Given the description of an element on the screen output the (x, y) to click on. 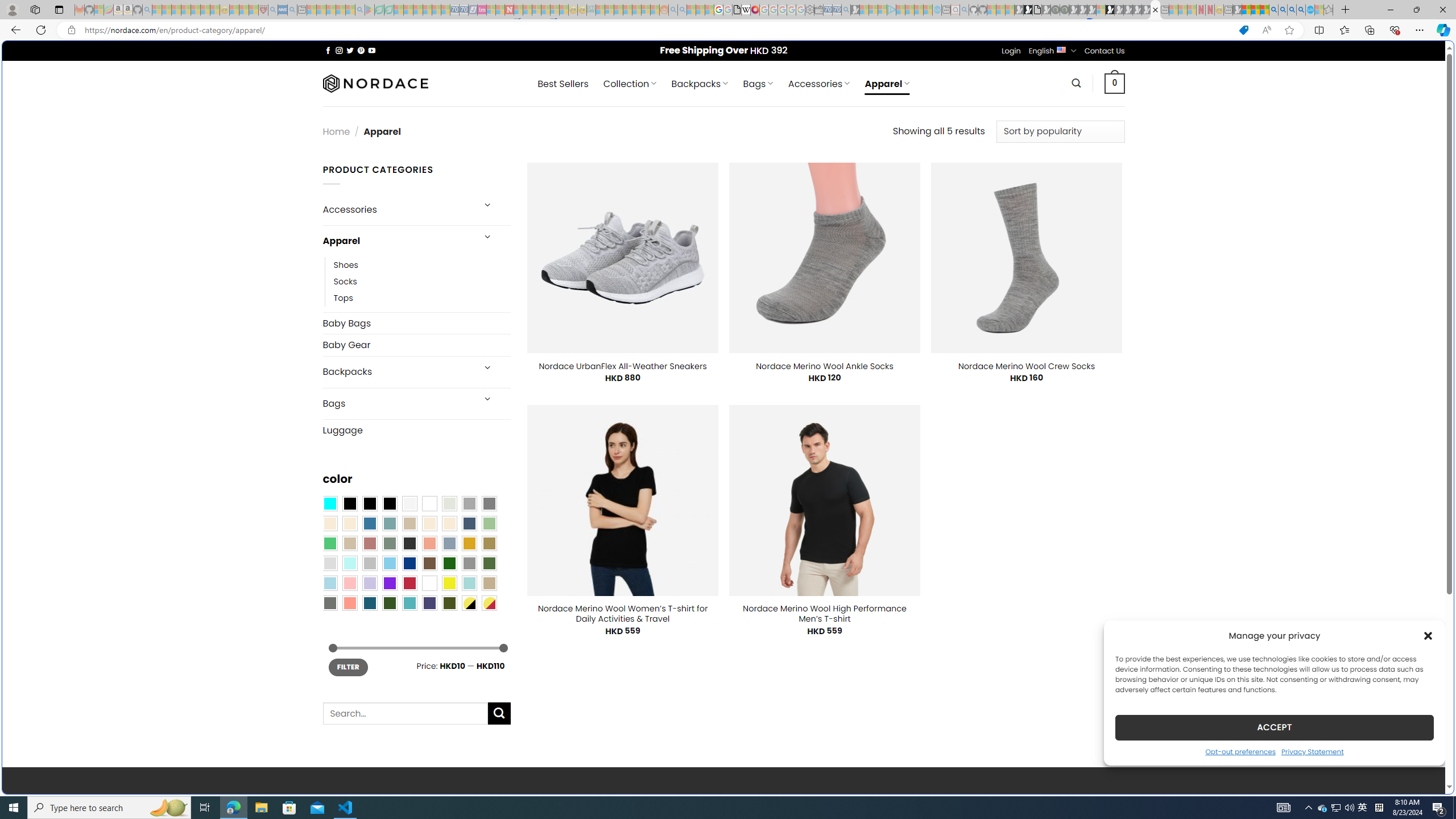
Luggage (416, 430)
Submit (499, 712)
Sign in to your account - Sleeping (1100, 9)
 0  (1115, 83)
Target page - Wikipedia (745, 9)
Socks (344, 280)
utah sues federal government - Search - Sleeping (291, 9)
